Given the description of an element on the screen output the (x, y) to click on. 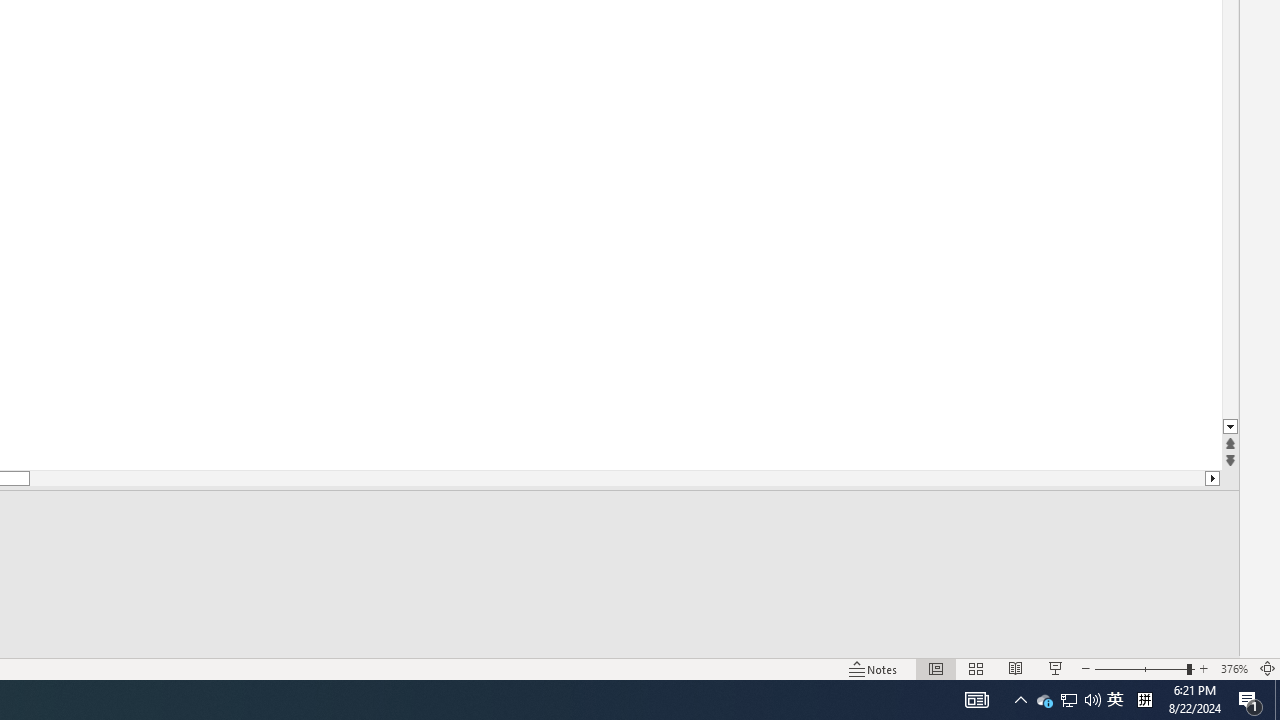
Zoom 376% (1234, 668)
Notes  (874, 668)
Line down (1230, 427)
